Given the description of an element on the screen output the (x, y) to click on. 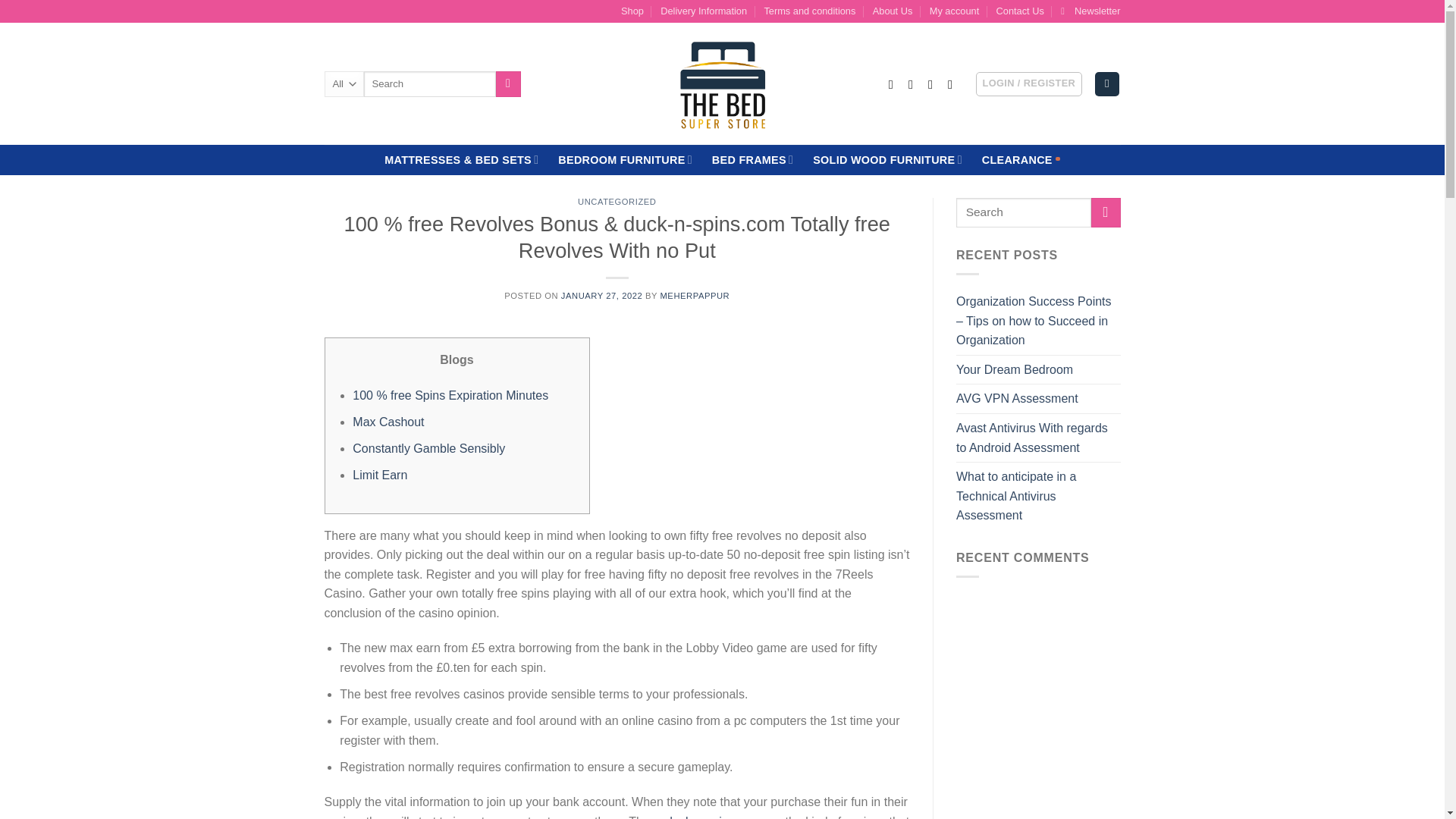
Bed Centre (722, 83)
BED FRAMES (752, 159)
About Us (892, 11)
Delivery Information (703, 11)
My account (954, 11)
Newsletter (1090, 11)
Contact Us (1019, 11)
Terms and conditions (809, 11)
Search (508, 84)
Shop (632, 11)
Cart (1106, 84)
BEDROOM FURNITURE (625, 159)
